Given the description of an element on the screen output the (x, y) to click on. 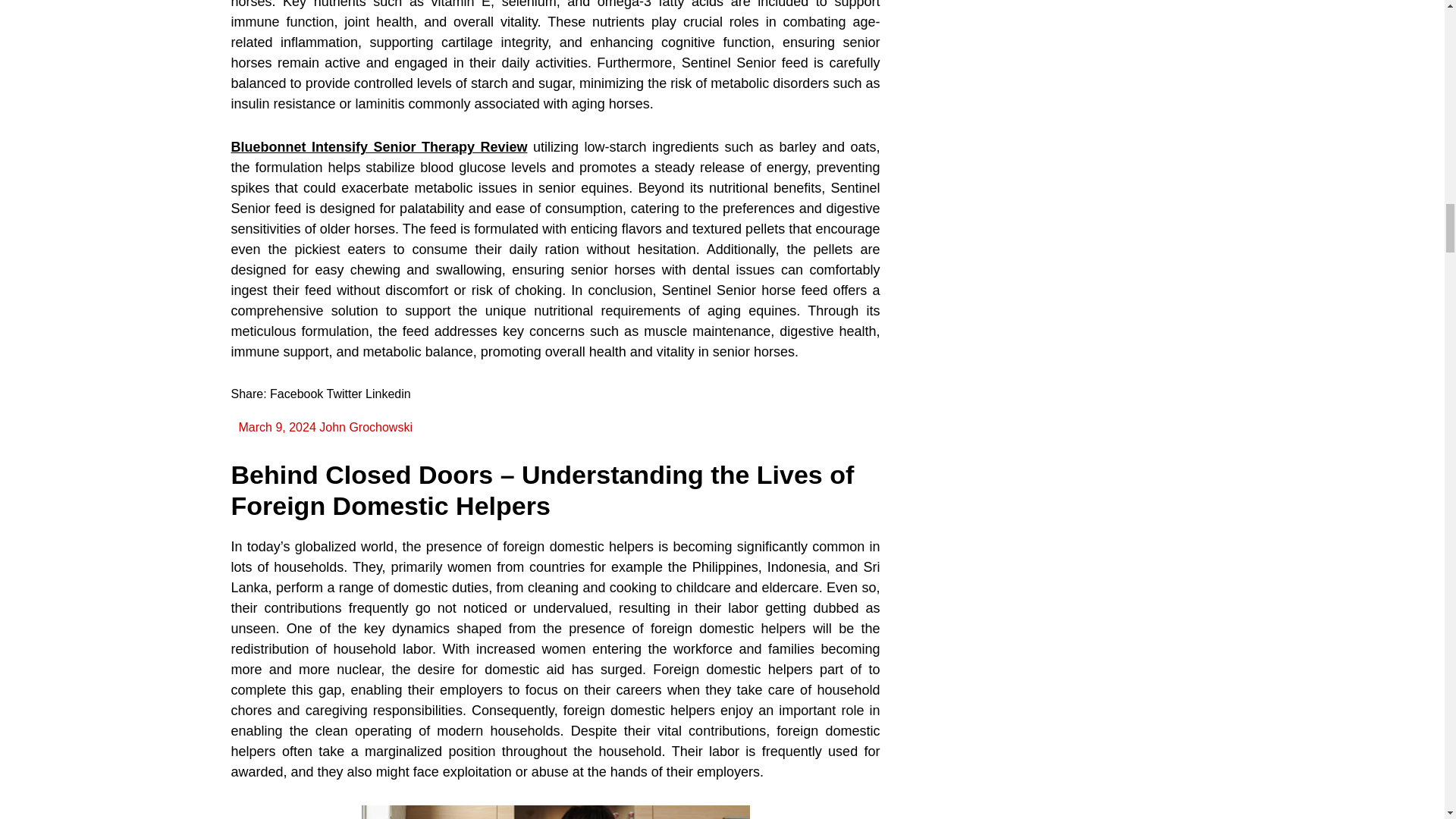
Facebook (296, 393)
Linkedin (387, 393)
Twitter (344, 393)
Bluebonnet Intensify Senior Therapy Review (378, 146)
